Given the description of an element on the screen output the (x, y) to click on. 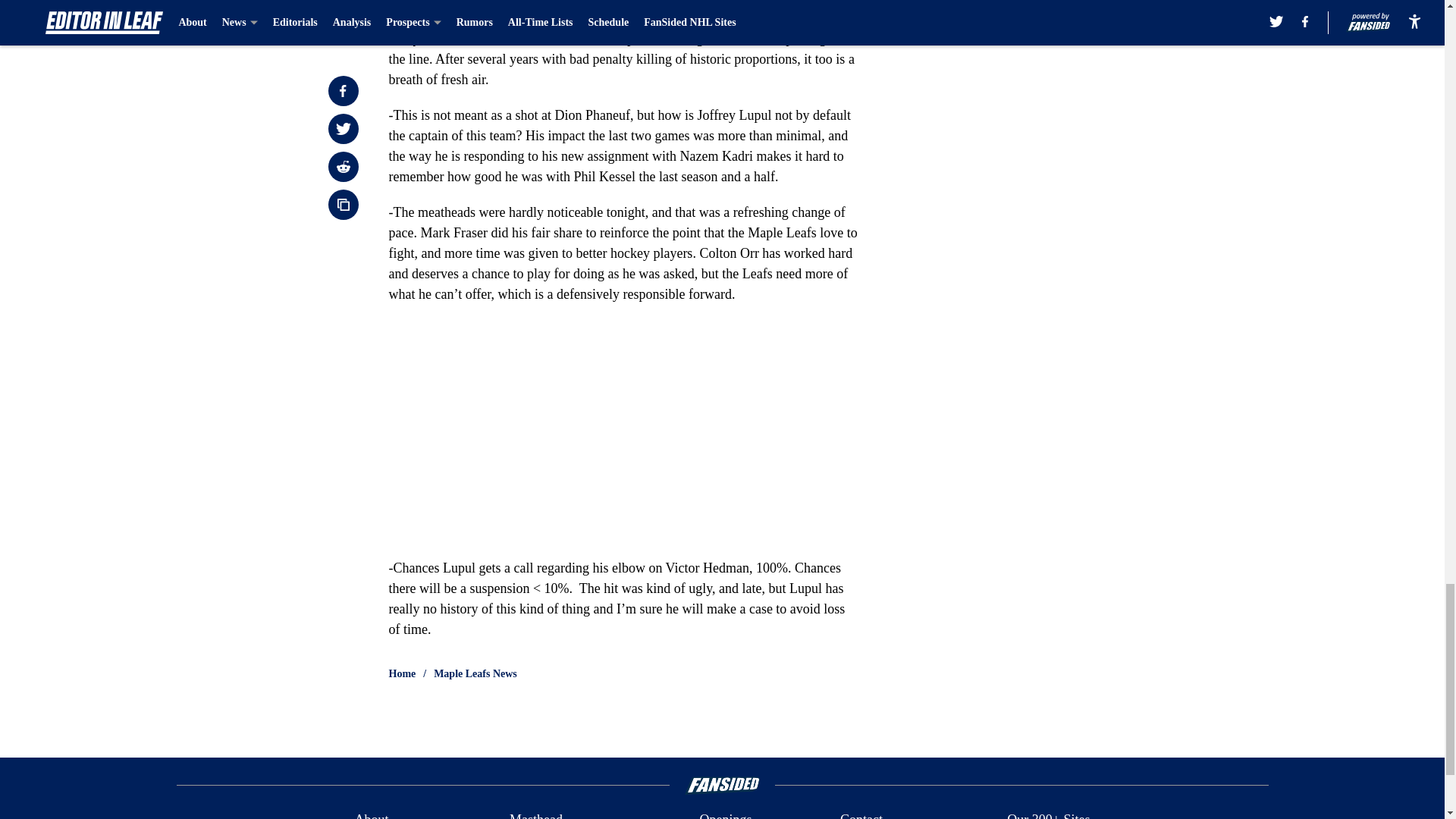
Openings (724, 814)
Masthead (535, 814)
Maple Leafs News (474, 673)
Home (401, 673)
About (370, 814)
Contact (861, 814)
